Given the description of an element on the screen output the (x, y) to click on. 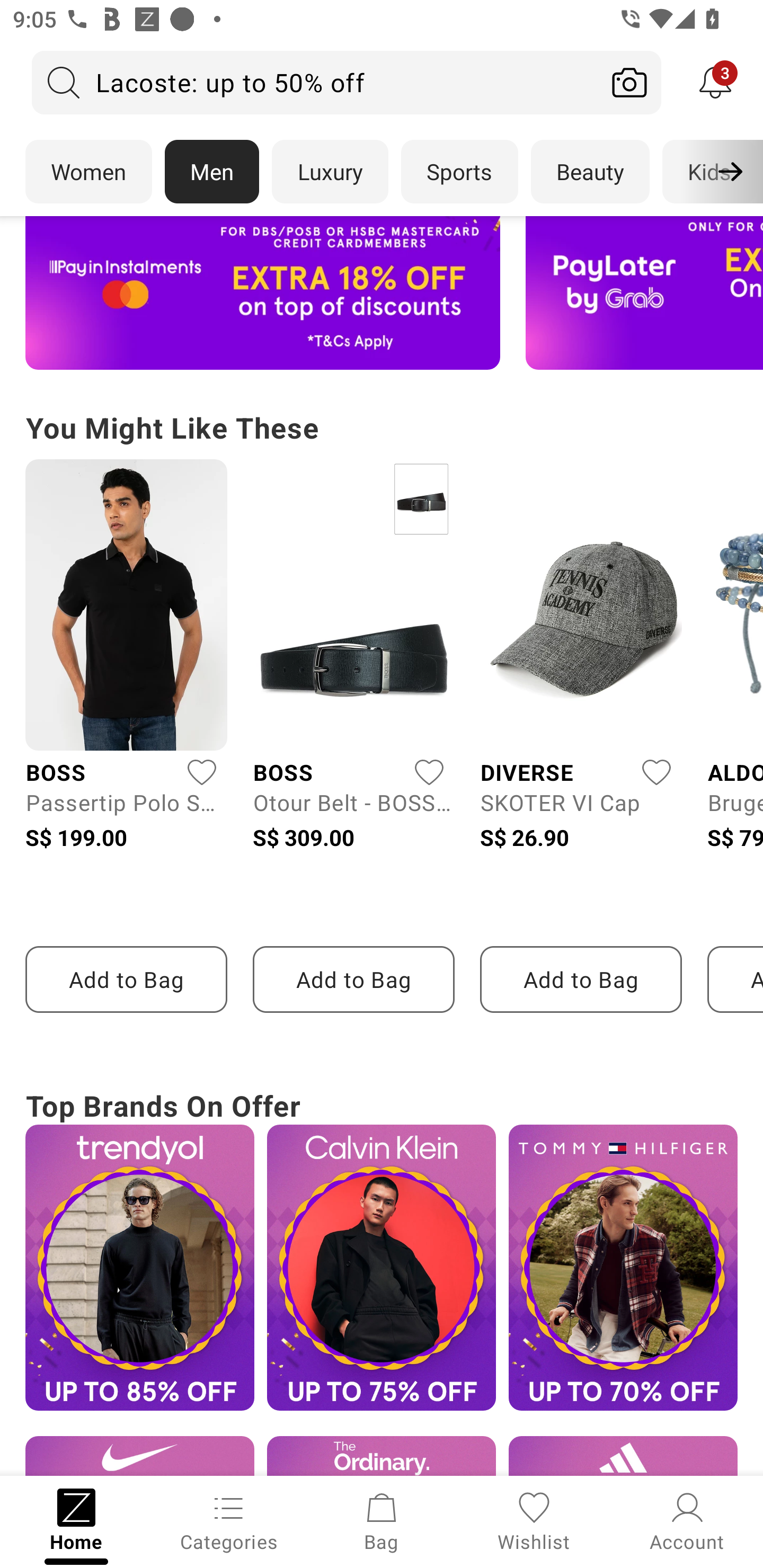
Lacoste: up to 50% off (314, 82)
Women (88, 171)
Men (211, 171)
Luxury (329, 171)
Sports (459, 171)
Beauty (590, 171)
Campaign banner (262, 293)
Campaign banner (644, 293)
Add to Bag (126, 978)
Add to Bag (353, 978)
Add to Bag (580, 978)
Campaign banner (139, 1267)
Campaign banner (381, 1267)
Campaign banner (622, 1267)
Campaign banner (139, 1455)
Campaign banner (381, 1455)
Categories (228, 1519)
Bag (381, 1519)
Wishlist (533, 1519)
Account (686, 1519)
